Given the description of an element on the screen output the (x, y) to click on. 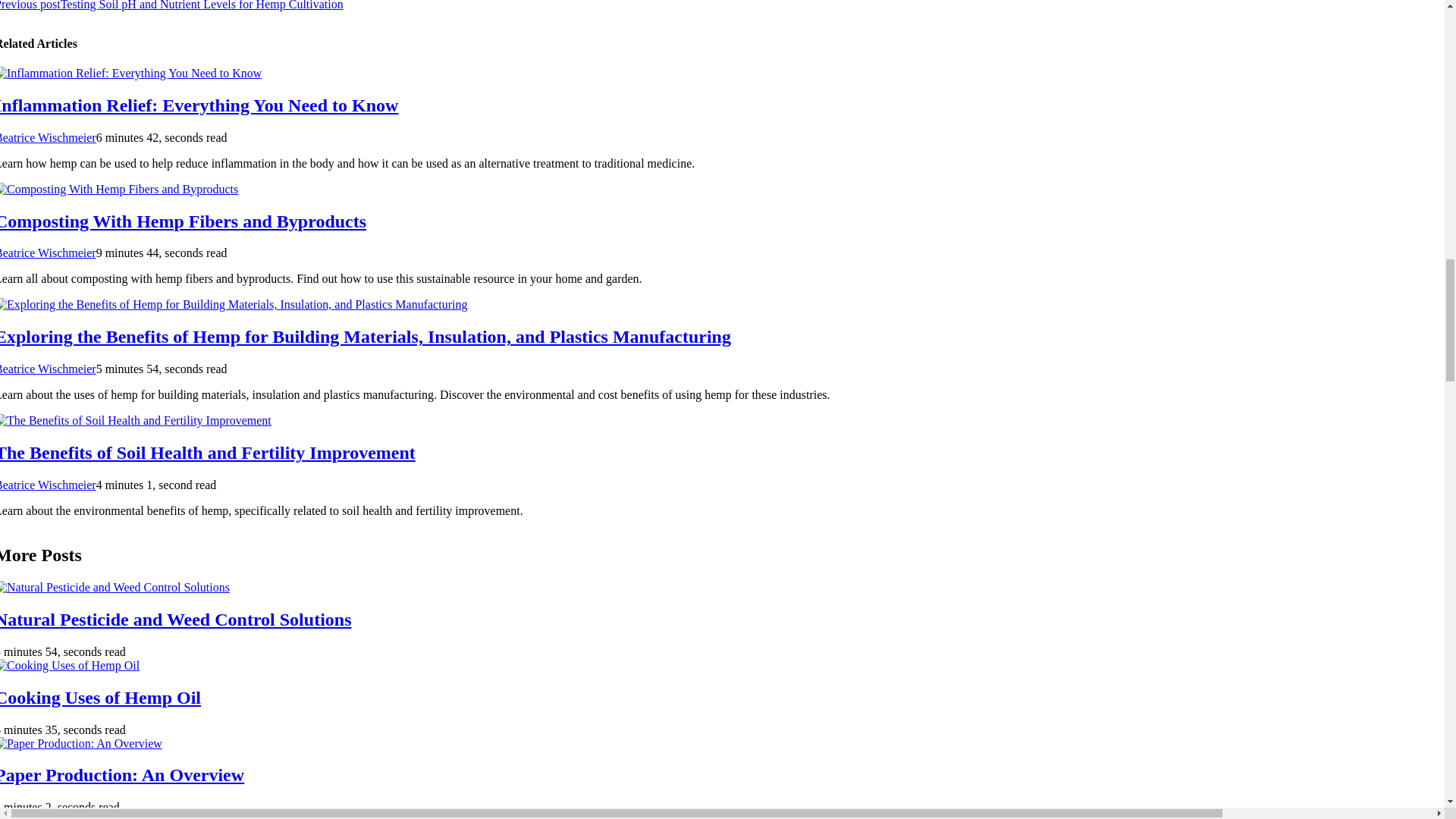
Posts by Beatrice Wischmeier (48, 252)
Posts by Beatrice Wischmeier (48, 368)
Posts by Beatrice Wischmeier (48, 137)
Posts by Beatrice Wischmeier (48, 484)
